Given the description of an element on the screen output the (x, y) to click on. 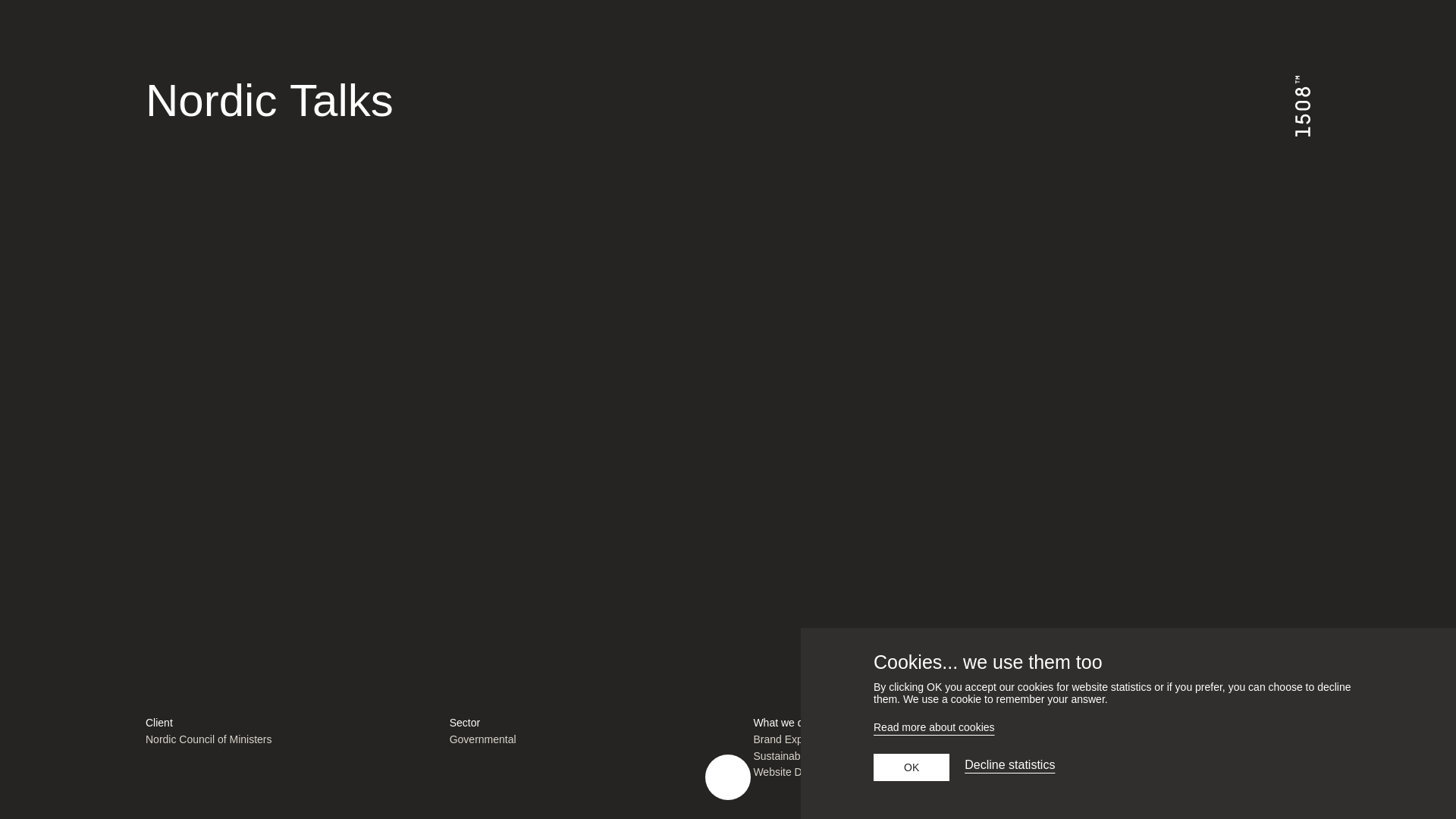
Read more about cookies (1128, 729)
OK (911, 767)
part of knowit (1328, 700)
Decline statistics (1008, 766)
